Given the description of an element on the screen output the (x, y) to click on. 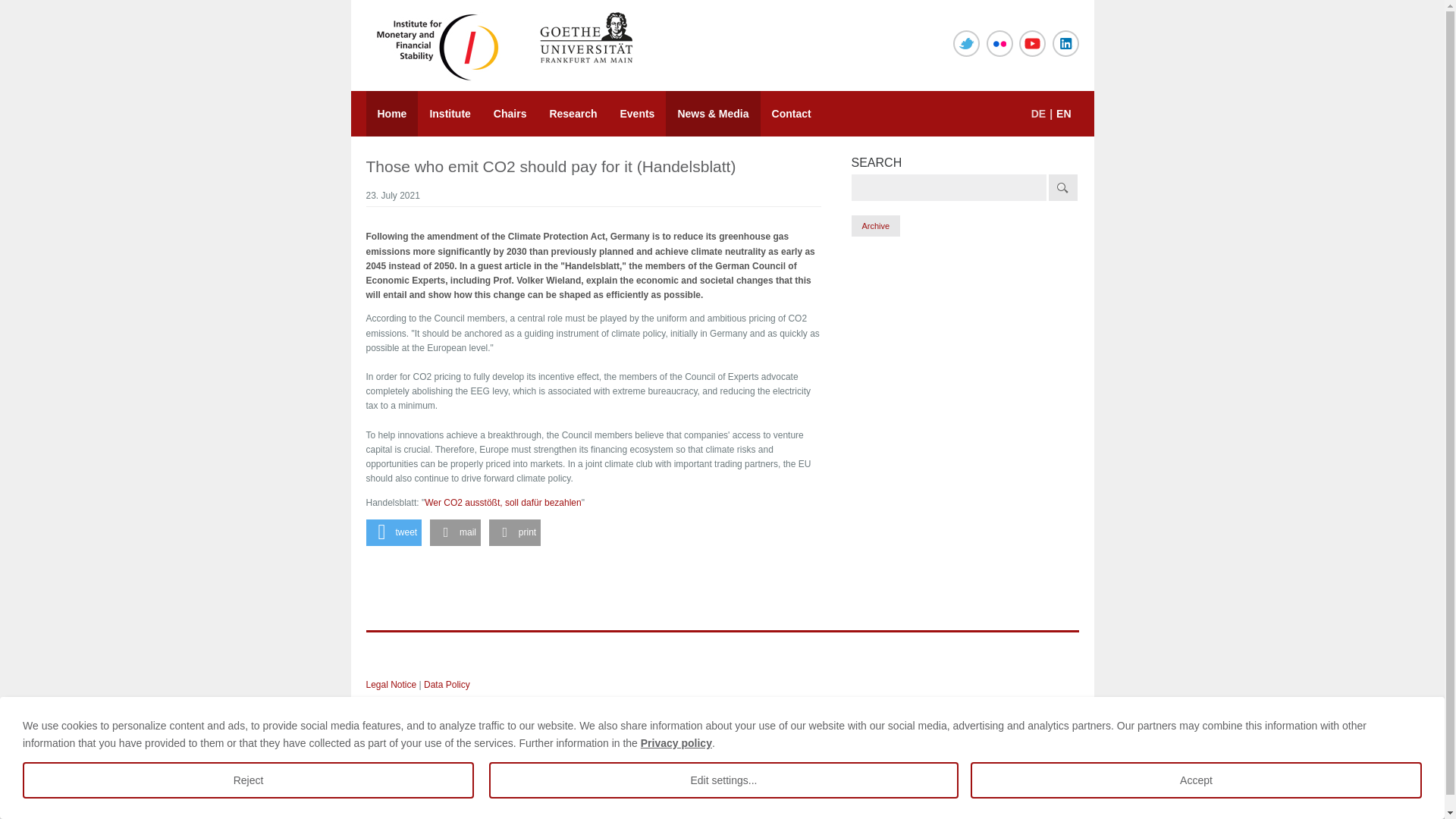
Home (391, 113)
Chairs (509, 113)
Home (391, 113)
Institute (449, 113)
Institute (449, 113)
